Given the description of an element on the screen output the (x, y) to click on. 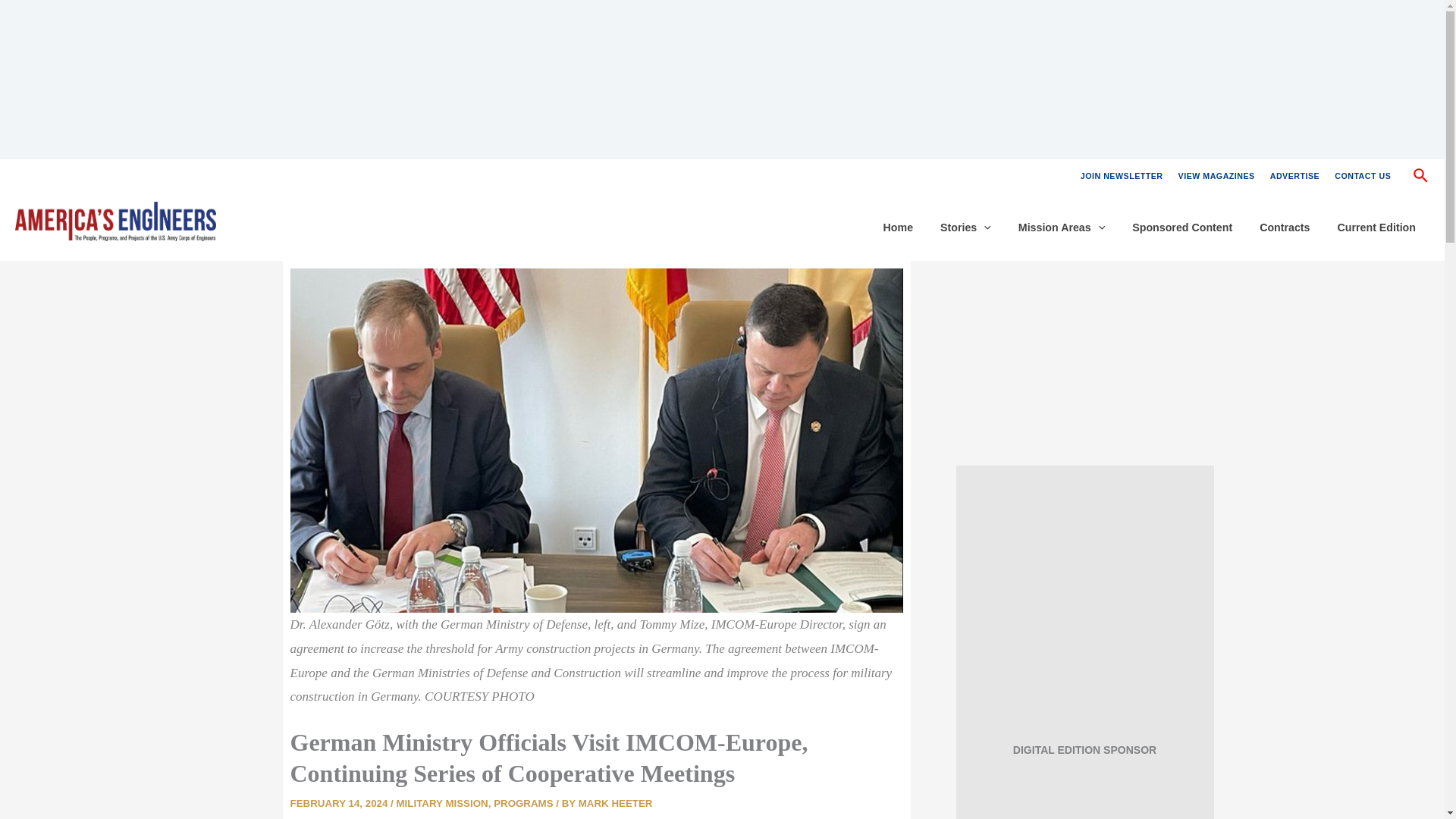
Current Edition (1376, 227)
Contracts (1284, 227)
VIEW MAGAZINES (1216, 175)
Home (898, 227)
Sponsored Content (1182, 227)
Mission Areas (1061, 227)
CONTACT US (1361, 175)
ADVERTISE (1294, 175)
JOIN NEWSLETTER (1121, 175)
Stories (965, 227)
